Given the description of an element on the screen output the (x, y) to click on. 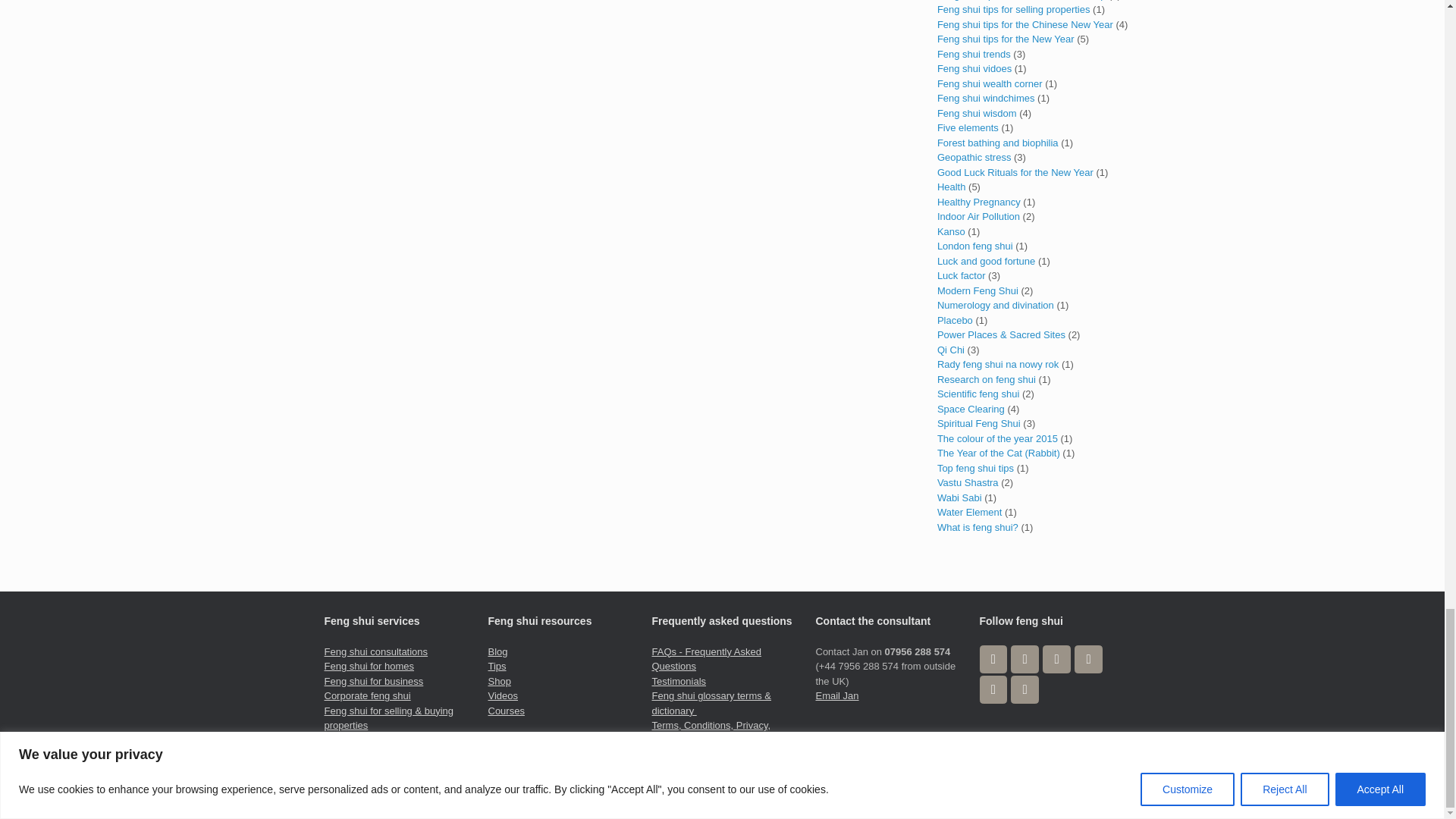
Feng Shui For Business (373, 681)
Remote Feng Shui Consultation (382, 747)
Feng Shui Blog (497, 650)
Corporate Feng Shui (367, 695)
Feng Shui Consultations (376, 650)
Feng Shui For Homes (369, 665)
Feng Shui For Selling or Buying Properties (389, 717)
